Given the description of an element on the screen output the (x, y) to click on. 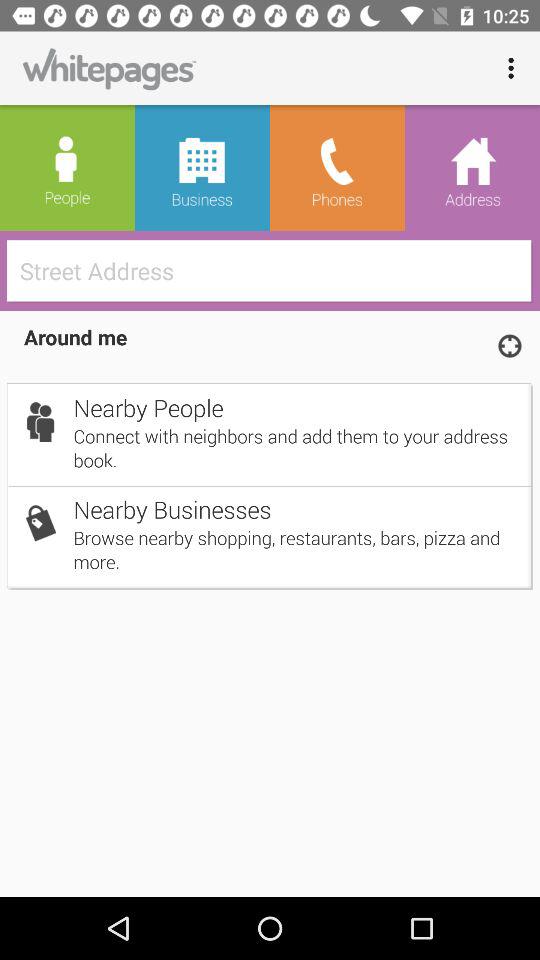
select the option address on page (472, 167)
